Given the description of an element on the screen output the (x, y) to click on. 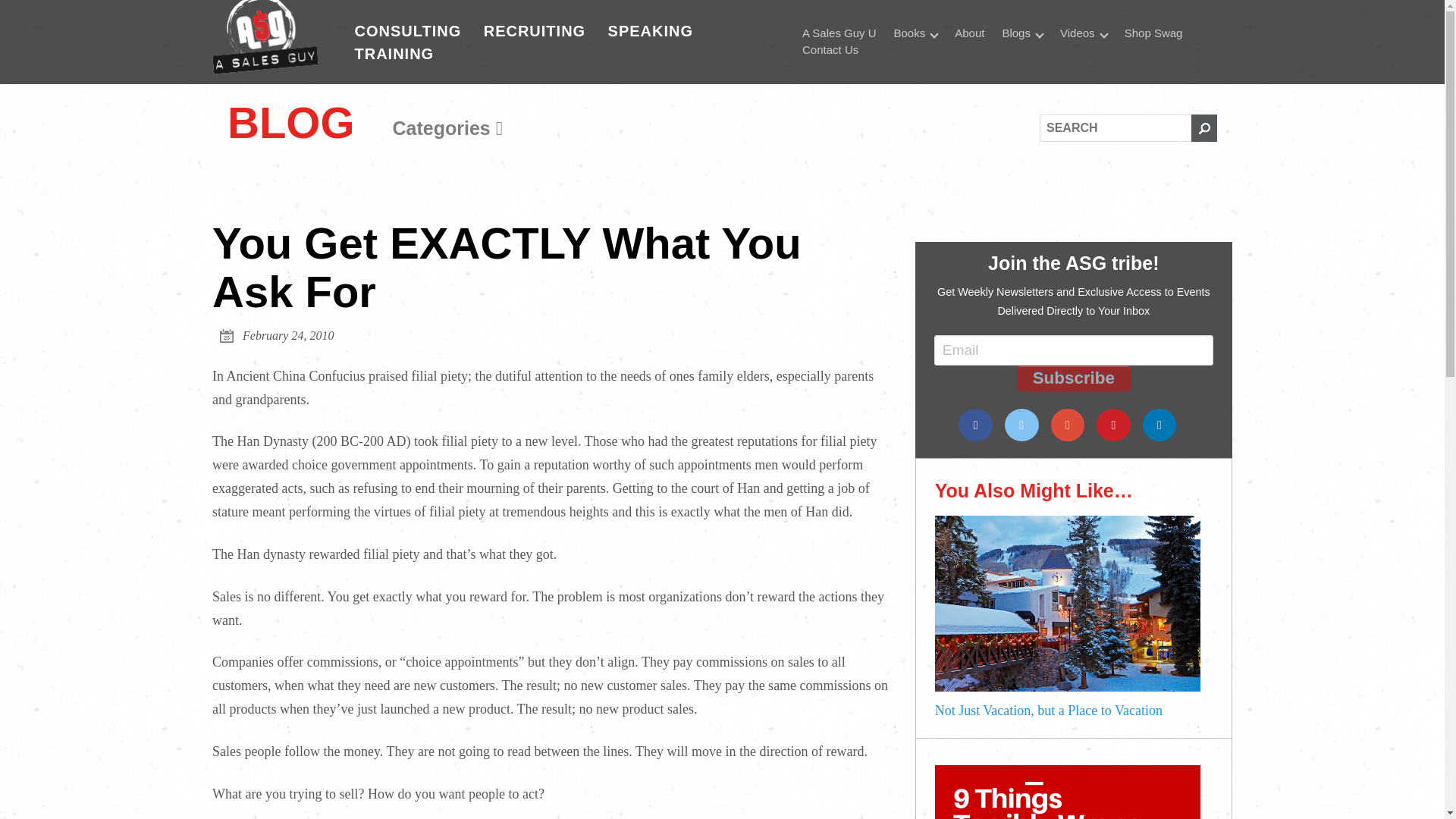
Not Just Vacation, but a Place to Vacation (1066, 686)
Contact Us (830, 49)
Pinterest (1113, 424)
Videos (1083, 32)
RECRUITING (534, 30)
Facebook (975, 424)
A Sales Guy U (838, 32)
Categories (447, 128)
Not Just Vacation, but a Place to Vacation (1073, 710)
Twitter (1021, 424)
